Given the description of an element on the screen output the (x, y) to click on. 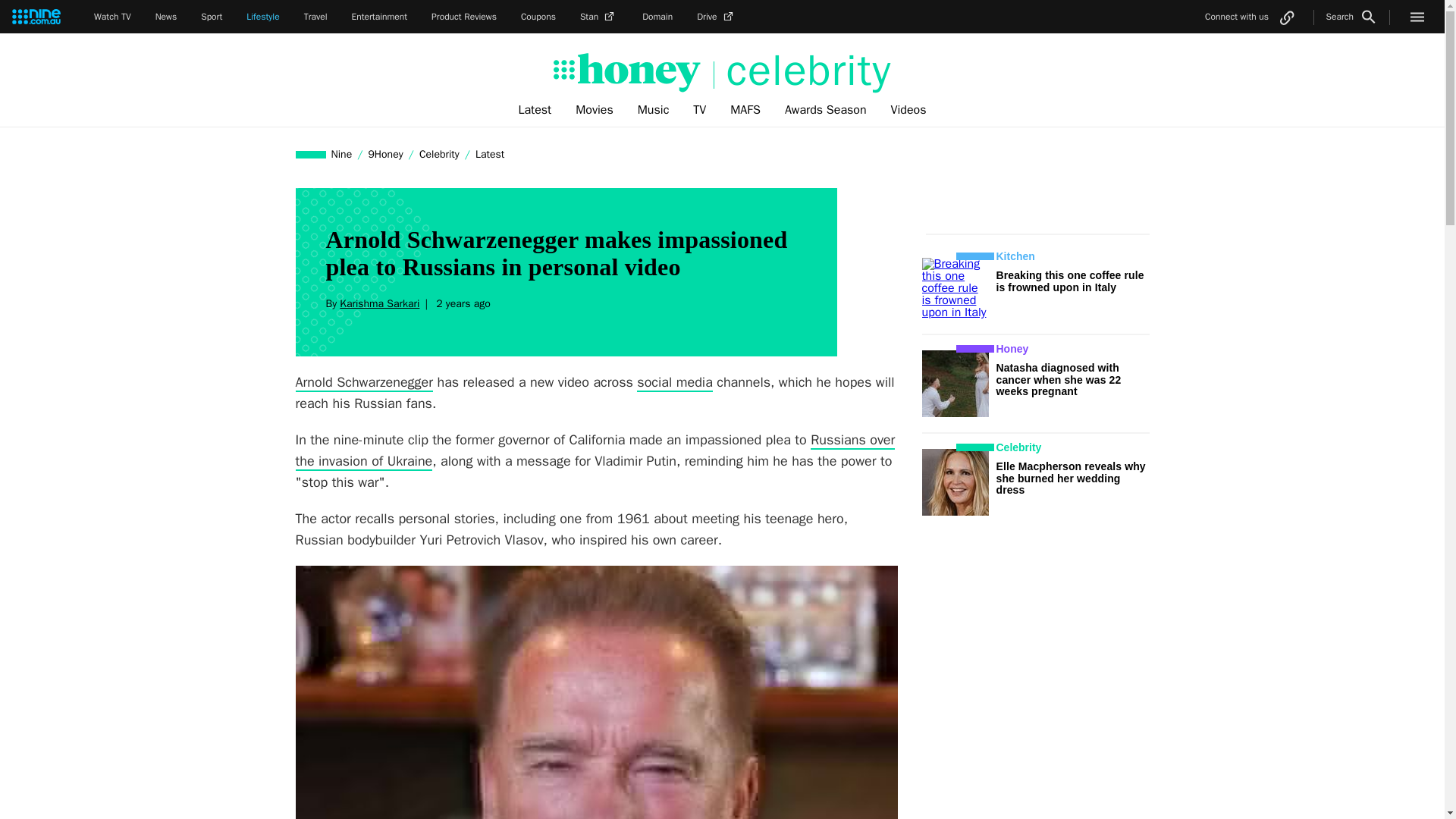
social media (675, 382)
2022-03-17 16:47 (460, 303)
Awards Season (826, 109)
9Honey (384, 154)
Latest (534, 109)
Music (653, 109)
social media (675, 382)
Russians over the invasion of Ukraine (595, 450)
Videos (909, 109)
Movies (594, 109)
